Given the description of an element on the screen output the (x, y) to click on. 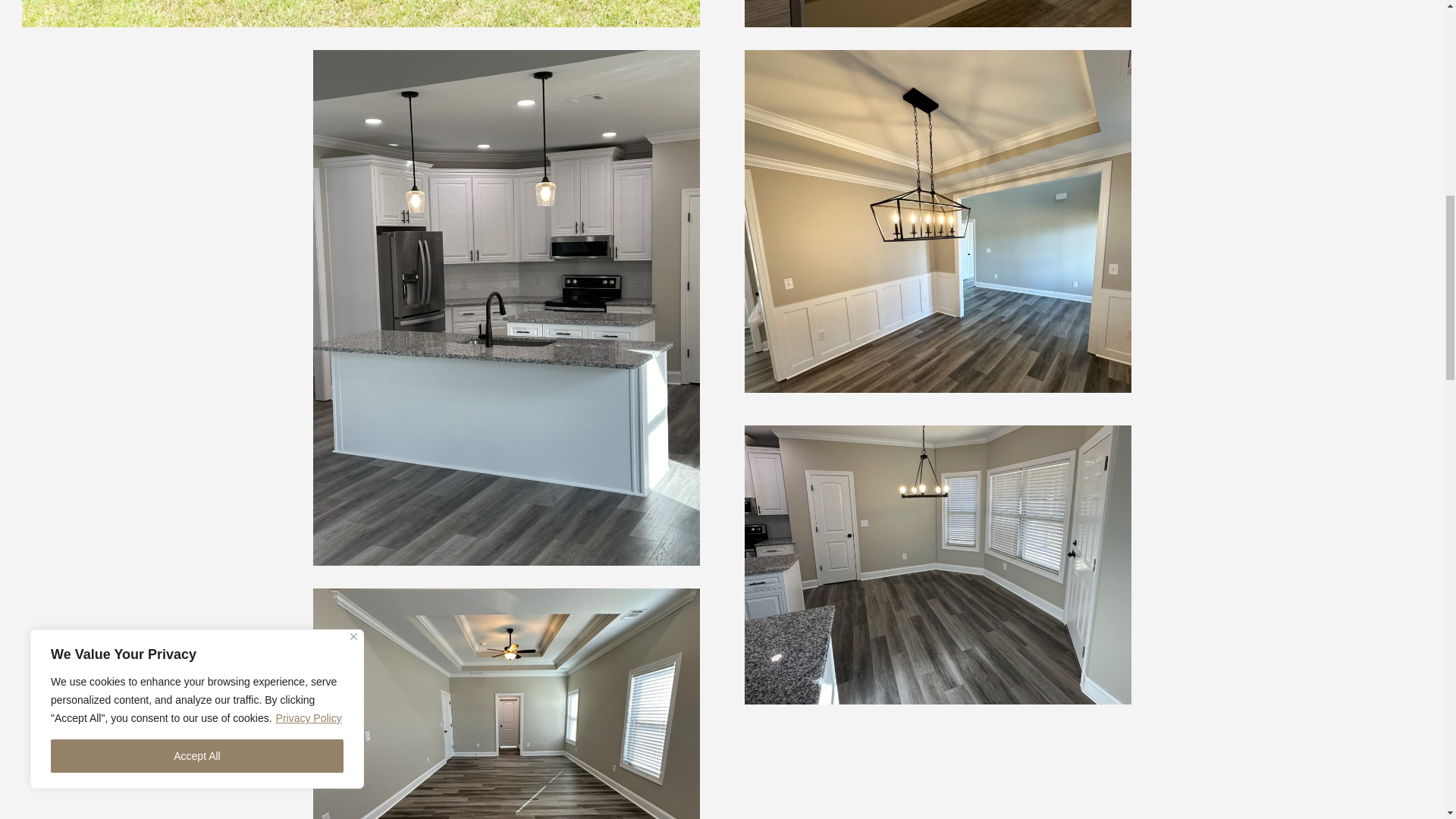
Master Bedroom (505, 703)
New kitchen (937, 13)
Dining Room (937, 221)
Residential breakfast room (937, 565)
New-home-construction-exterior (359, 13)
